Given the description of an element on the screen output the (x, y) to click on. 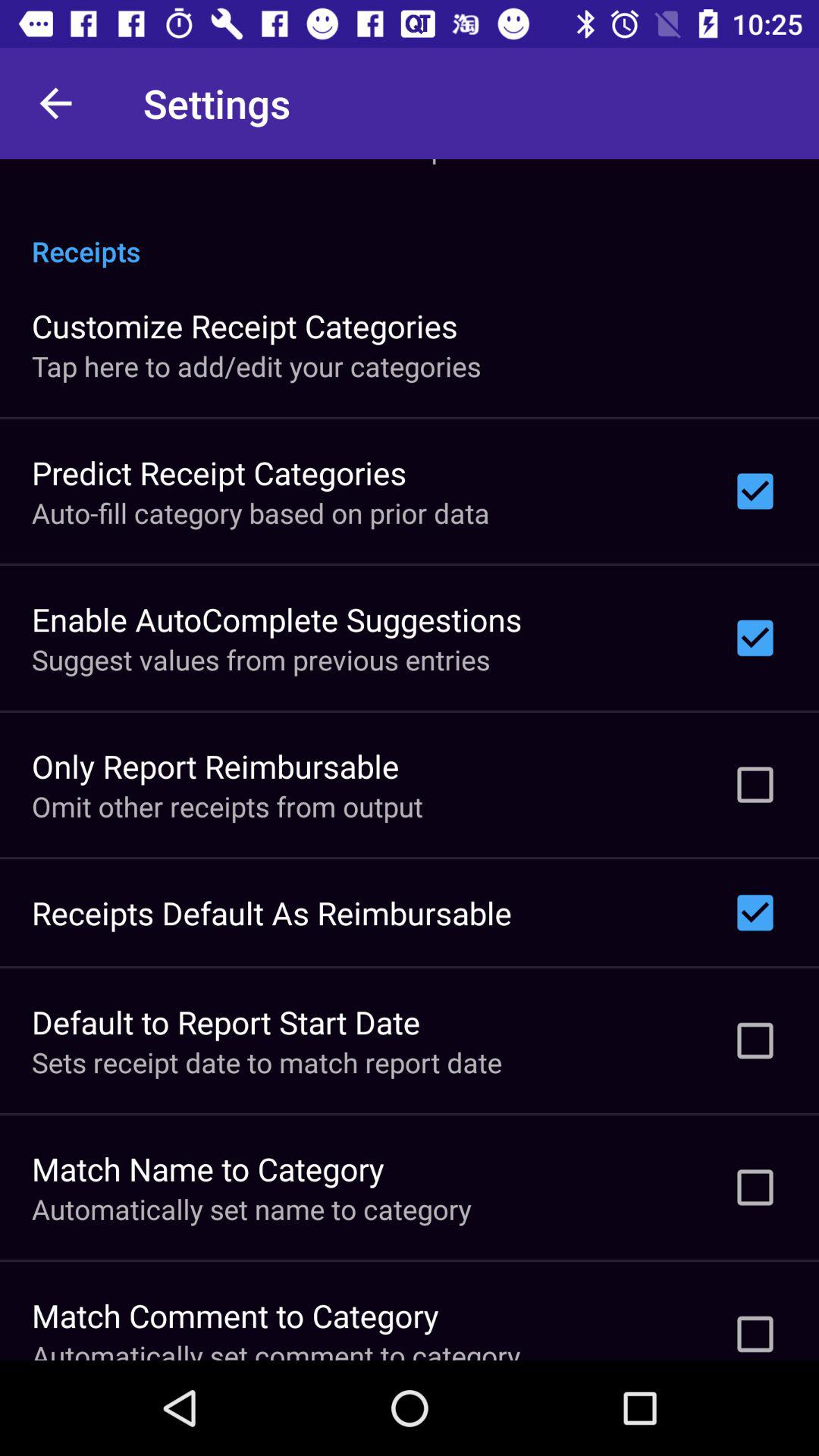
select the icon below the suggest values from (215, 765)
